Given the description of an element on the screen output the (x, y) to click on. 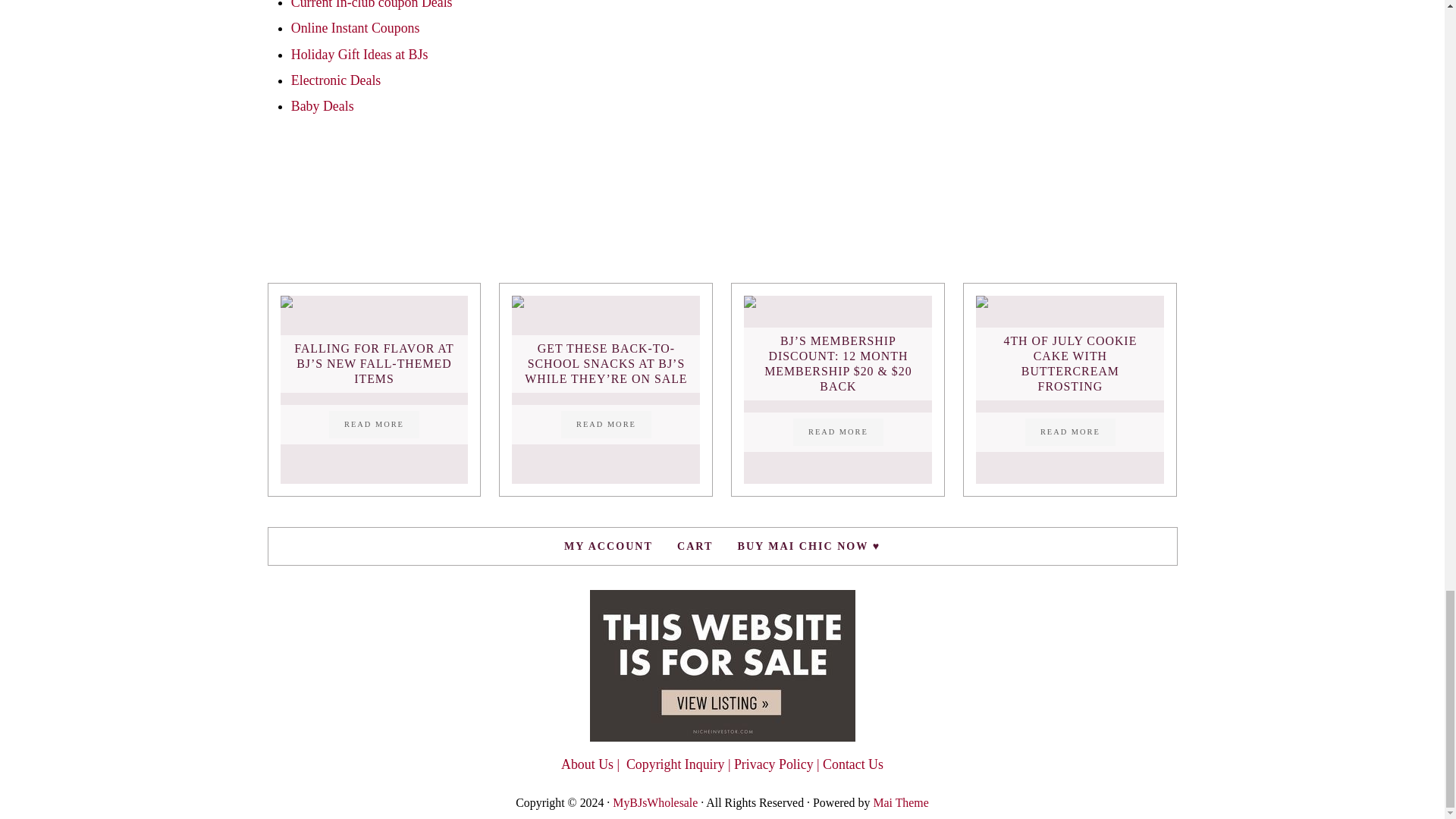
Current In-club coupon Deals (371, 4)
Holiday Gift Ideas at BJs (359, 54)
Online Instant Coupons (355, 28)
